Given the description of an element on the screen output the (x, y) to click on. 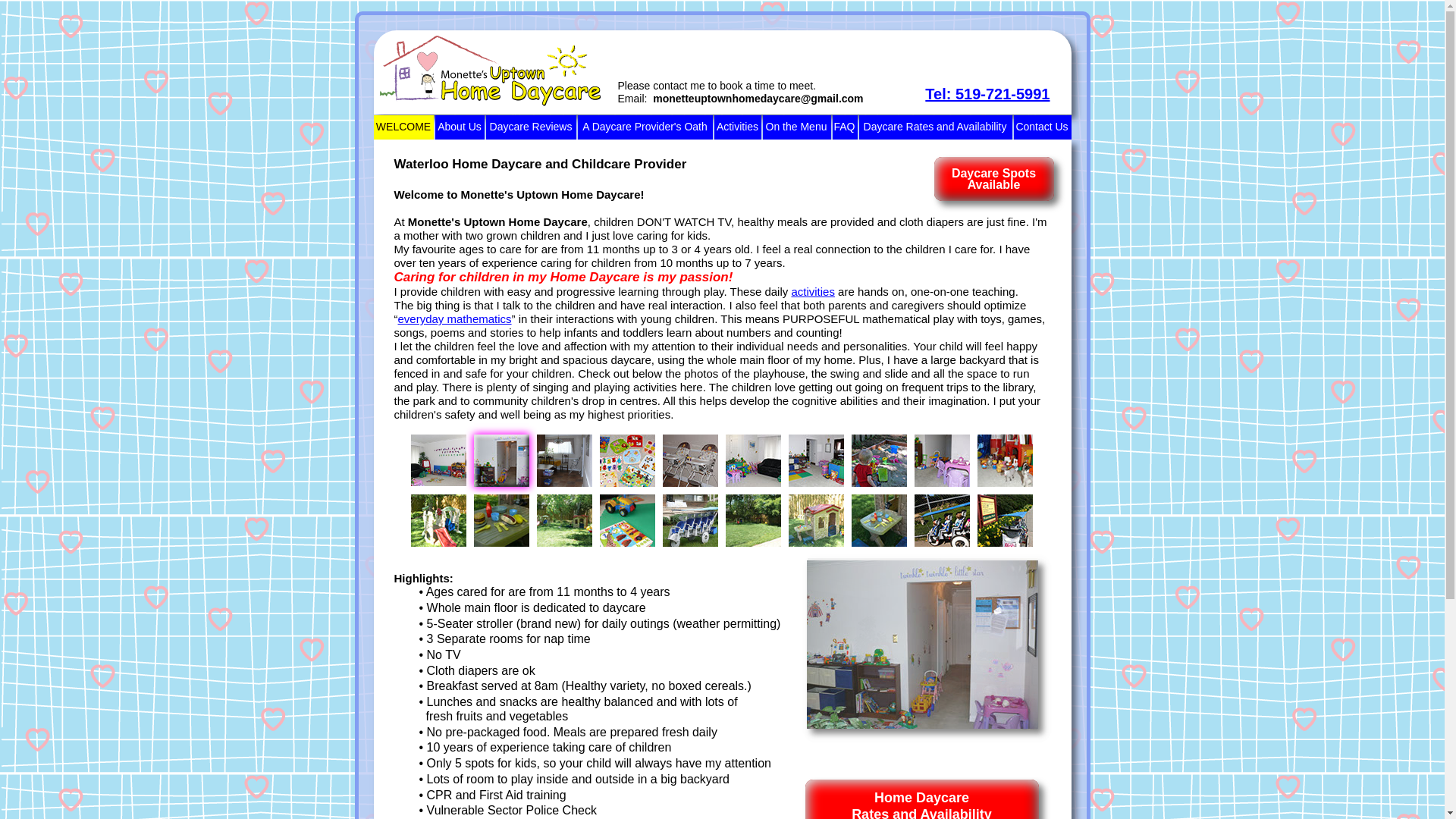
Monette's Uptown Home Daycare - provider in Waterloo (485, 70)
Home Daycare - Click to show bigger (438, 460)
About Us (459, 127)
Daycare Rates and Availability (935, 127)
Home Daycare - Click to show bigger (752, 520)
Tel: 519-721-5991 (986, 93)
Activities (737, 127)
Home Daycare - Click to show bigger (752, 460)
Home Daycare - Click to show bigger (690, 460)
Home Daycare - Click to show bigger (816, 460)
 Daycare Spots Available (994, 178)
WELCOME (402, 127)
Home Daycare - Click to show bigger (564, 460)
FAQ (844, 127)
Daycare Reviews (529, 127)
